Given the description of an element on the screen output the (x, y) to click on. 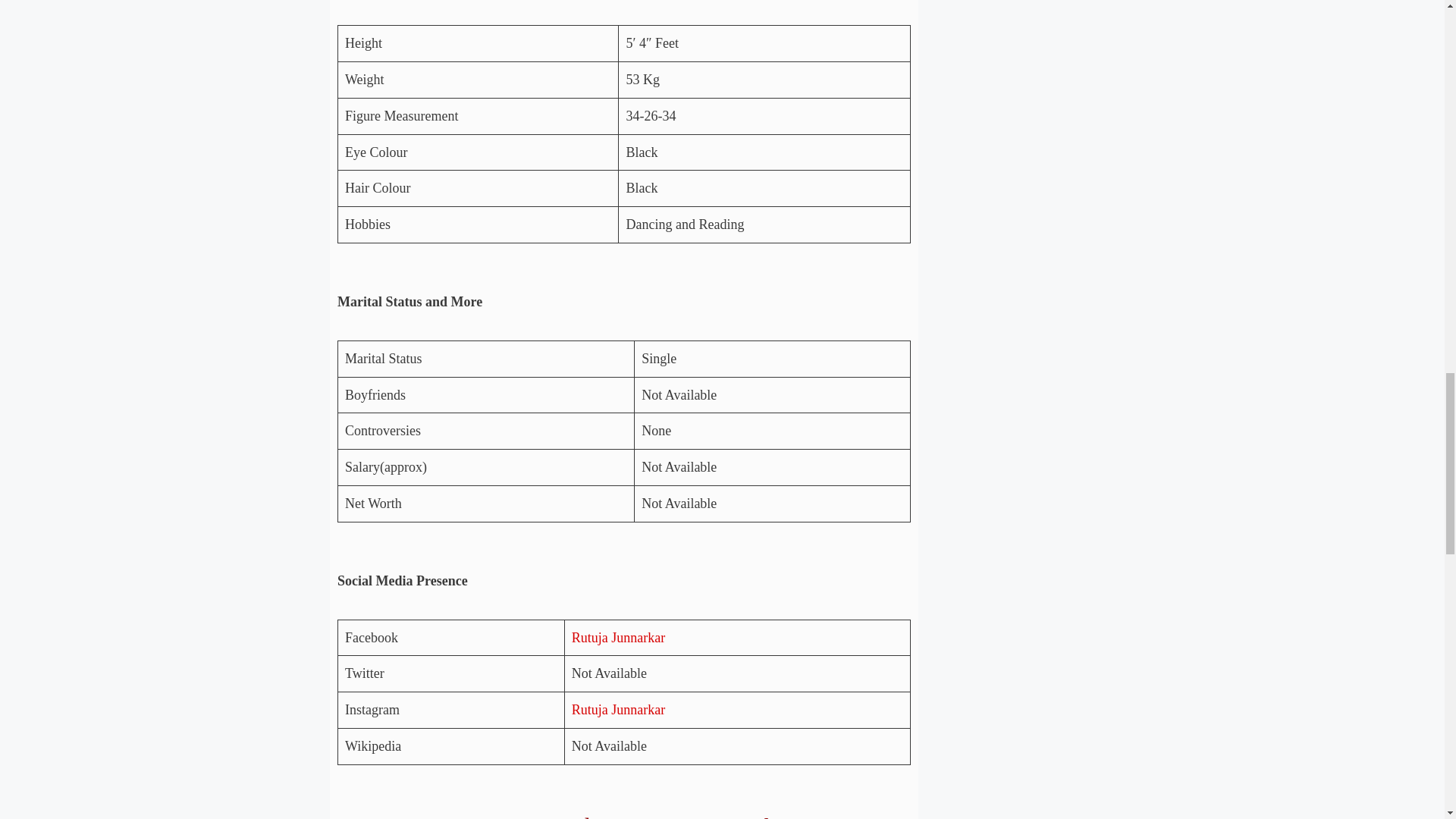
Rutuja Junnarkar (618, 709)
Rutuja Junnarkar (618, 637)
